Given the description of an element on the screen output the (x, y) to click on. 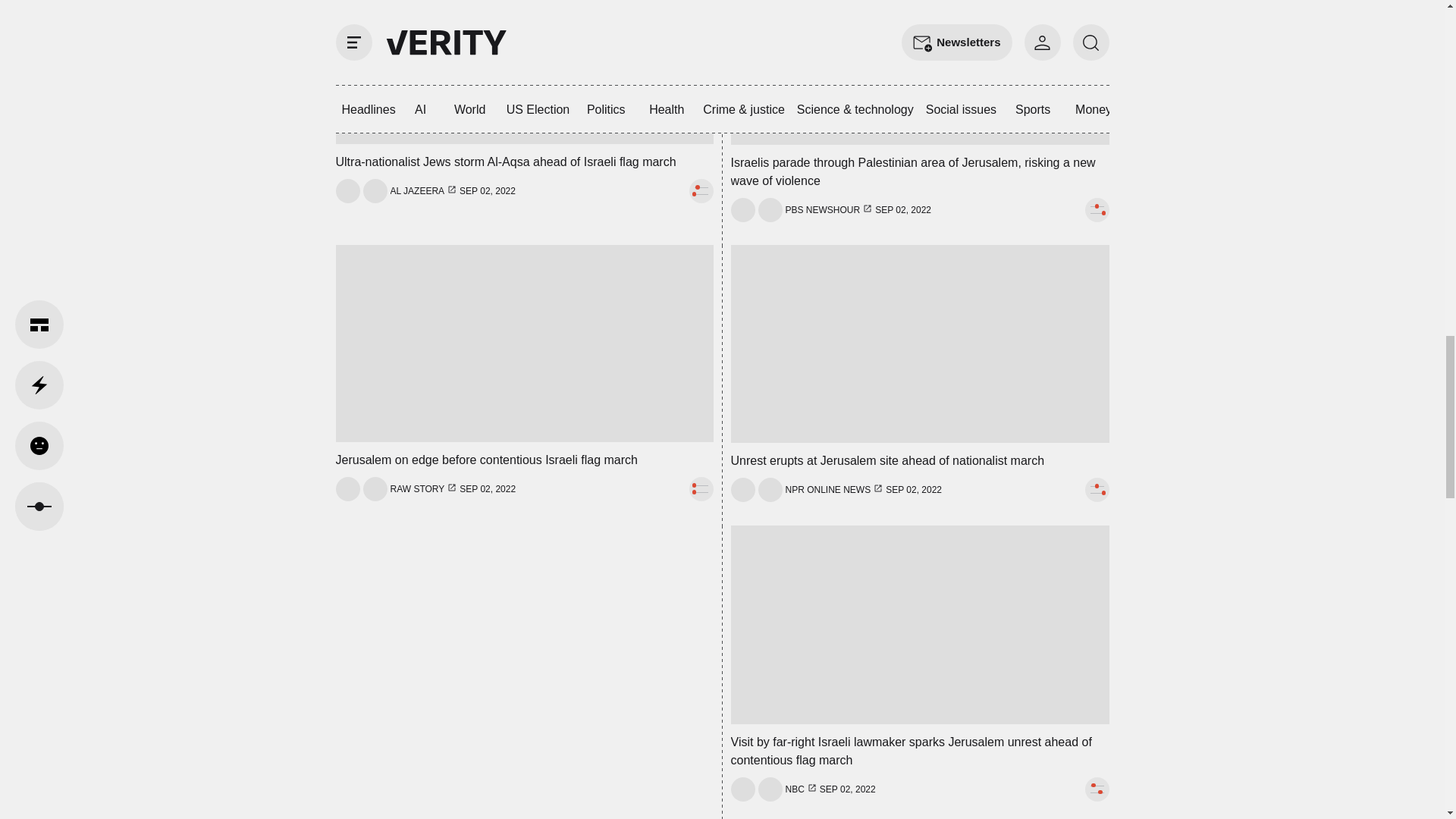
NPR Online News (828, 490)
Al Jazeera (417, 191)
LR : 2 CP : 4 (1096, 789)
NBC (795, 788)
